Given the description of an element on the screen output the (x, y) to click on. 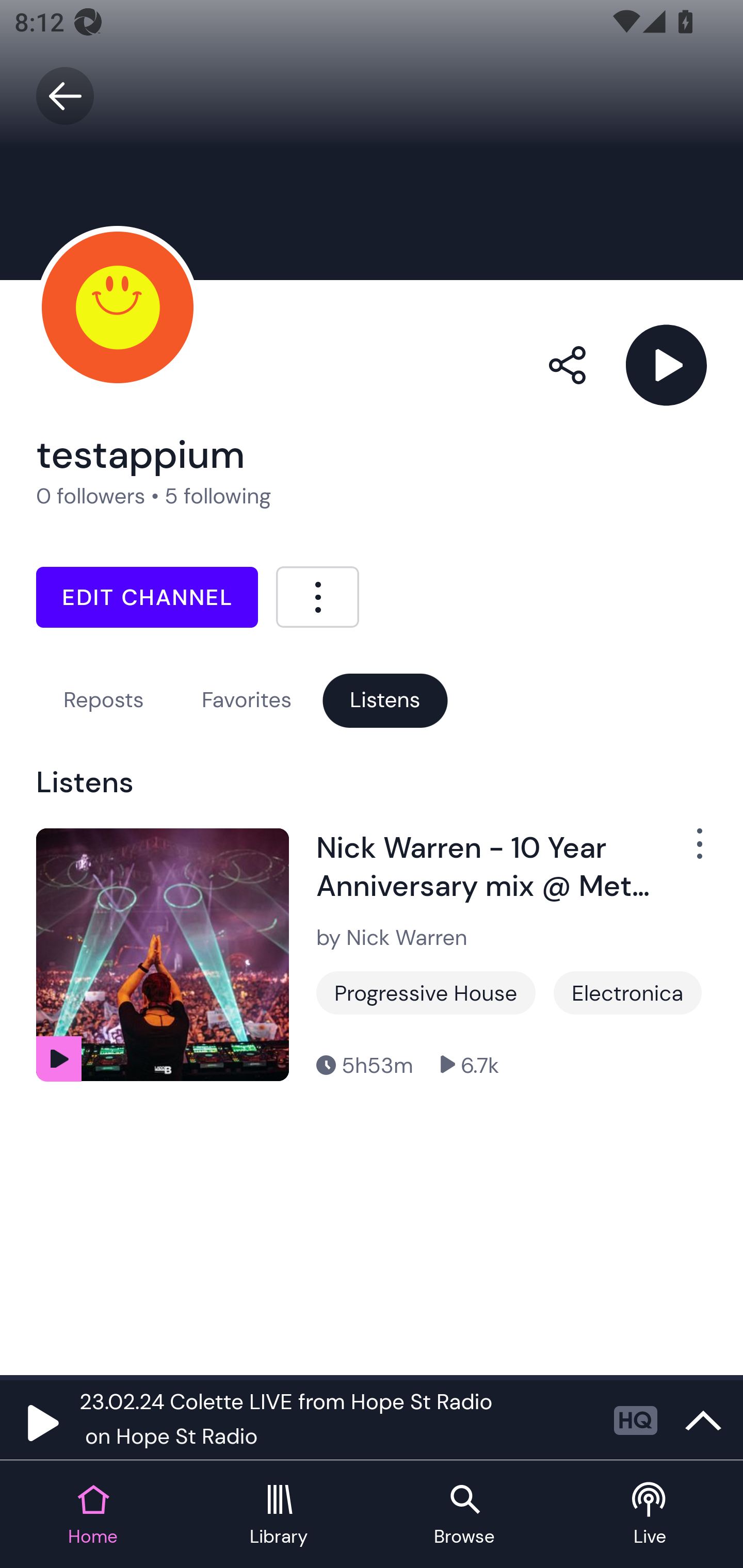
0 followers (90, 495)
5 following (217, 495)
More Menu (317, 596)
Edit Channel EDIT CHANNEL (146, 597)
Reposts (103, 699)
Favorites (246, 699)
Listens (384, 699)
Show Options Menu Button (688, 850)
Progressive House (425, 992)
Electronica (627, 992)
Home tab Home (92, 1515)
Library tab Library (278, 1515)
Browse tab Browse (464, 1515)
Live tab Live (650, 1515)
